Given the description of an element on the screen output the (x, y) to click on. 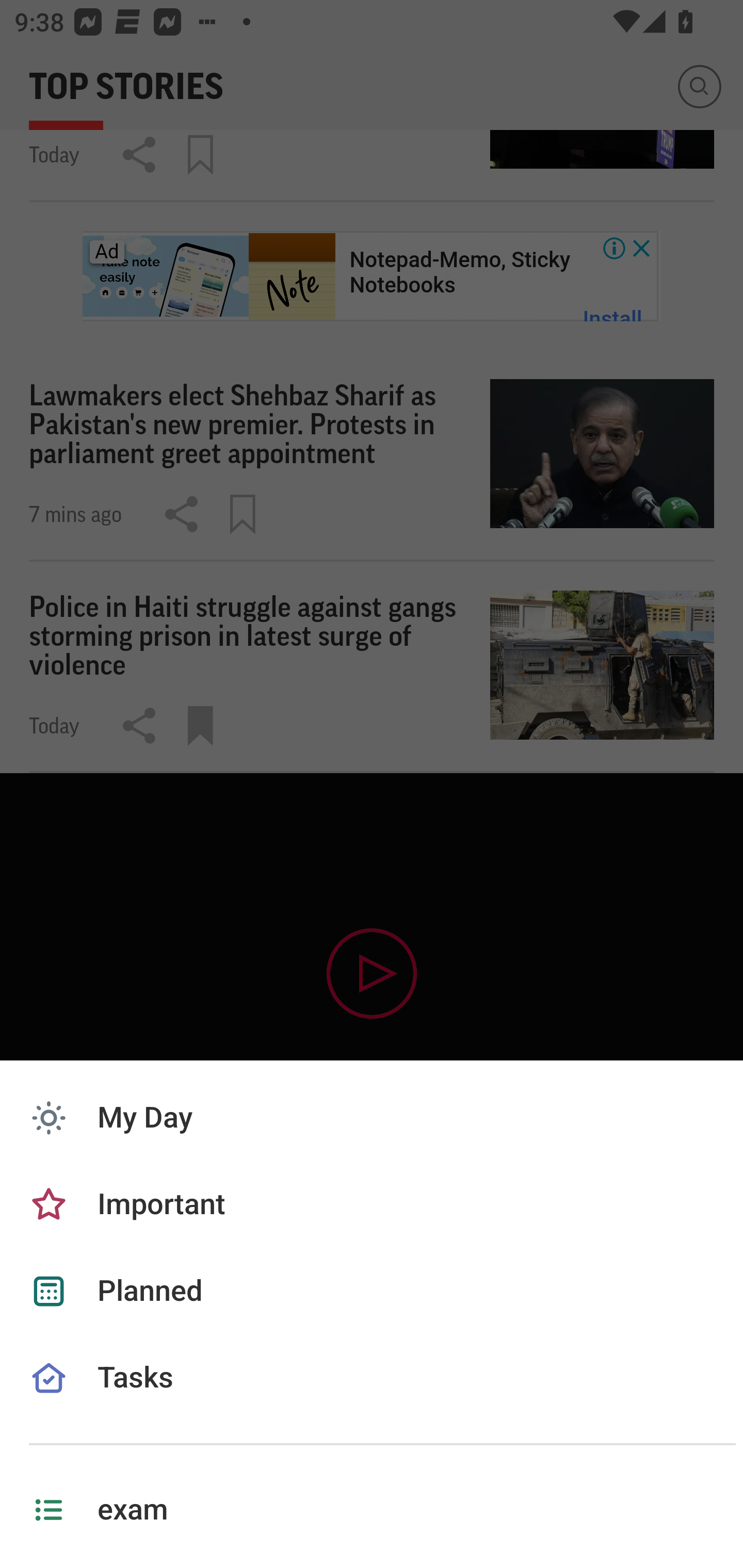
My Day, 0 tasks My Day (371, 1118)
Important, 0 tasks Important (371, 1204)
Planned, 0 tasks Planned (371, 1291)
Tasks (371, 1400)
exam (371, 1510)
